Given the description of an element on the screen output the (x, y) to click on. 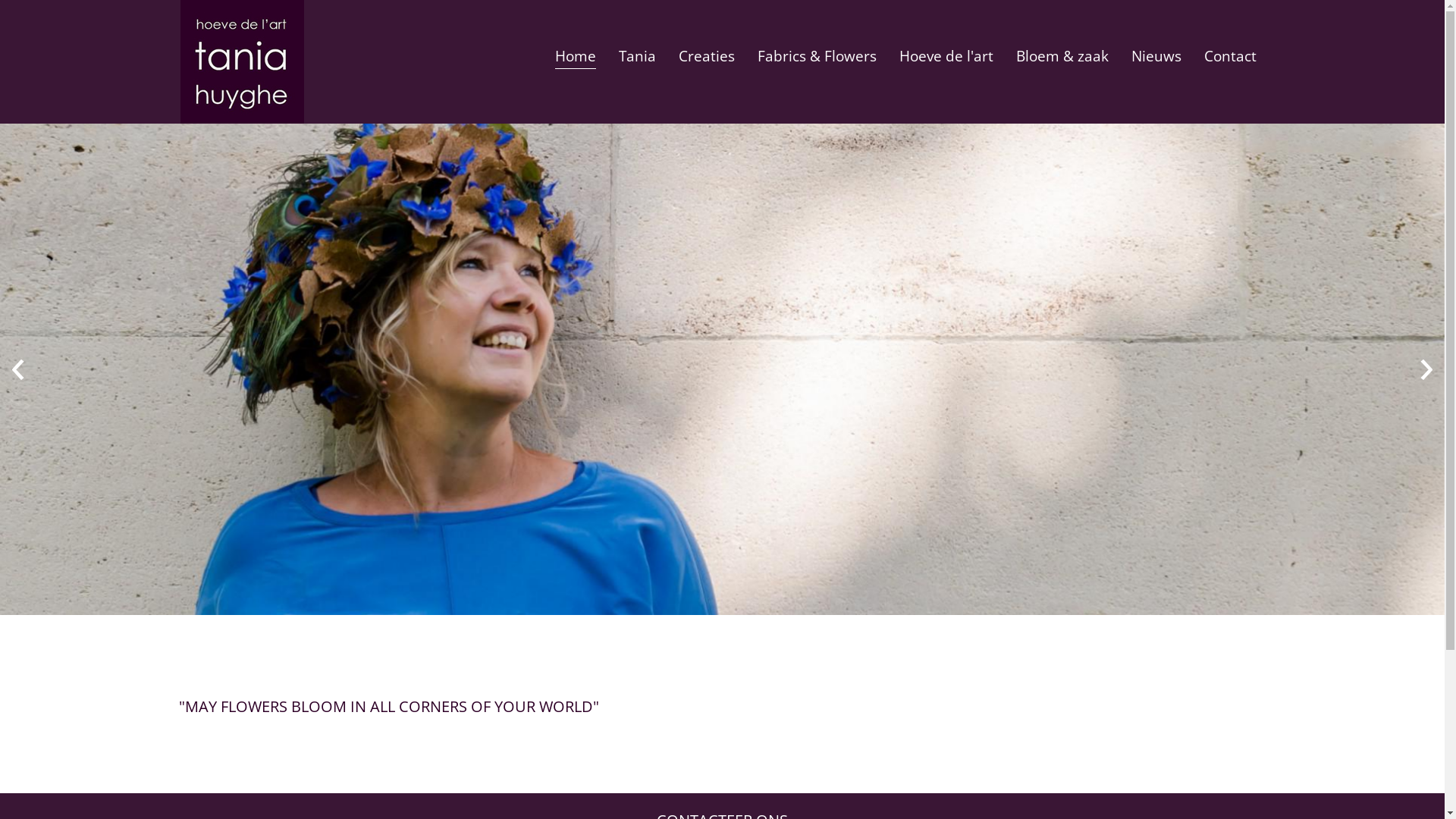
Hoeve de l'art Element type: text (946, 54)
Contact Element type: text (1230, 54)
Tania Element type: text (636, 54)
Nieuws Element type: text (1156, 54)
Home Element type: text (575, 54)
Creaties Element type: text (706, 54)
Fabrics & Flowers Element type: text (816, 54)
Bloem & zaak Element type: text (1062, 54)
